Given the description of an element on the screen output the (x, y) to click on. 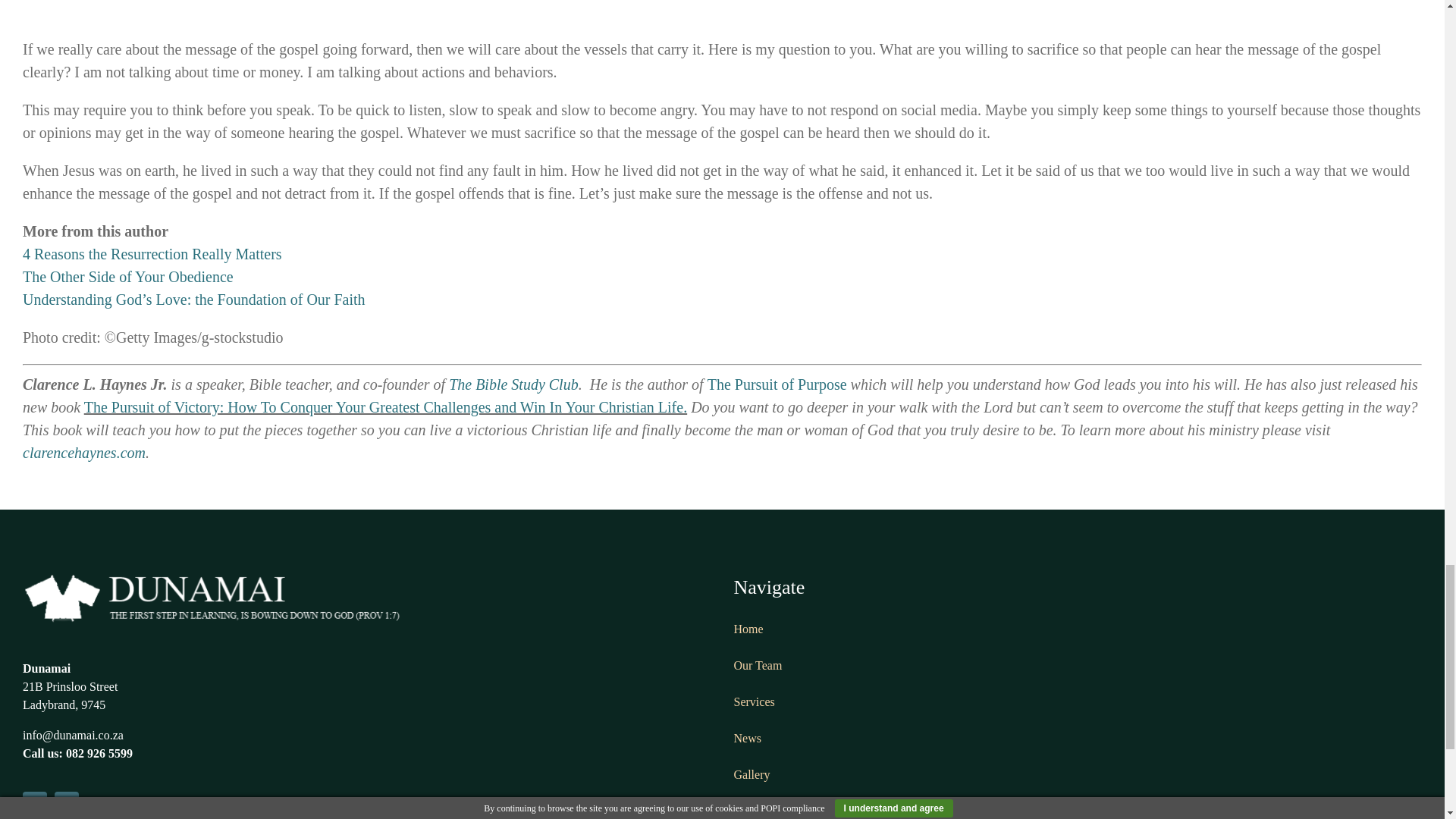
Facebook (34, 803)
4 Reasons the Resurrection Really Matters (152, 253)
The Other Side of Your Obedience (127, 276)
Email (66, 803)
Our Team (758, 665)
WhiteLogo (212, 597)
Services (753, 701)
The Bible Study Club (513, 384)
The Pursuit of Purpose (777, 384)
